Given the description of an element on the screen output the (x, y) to click on. 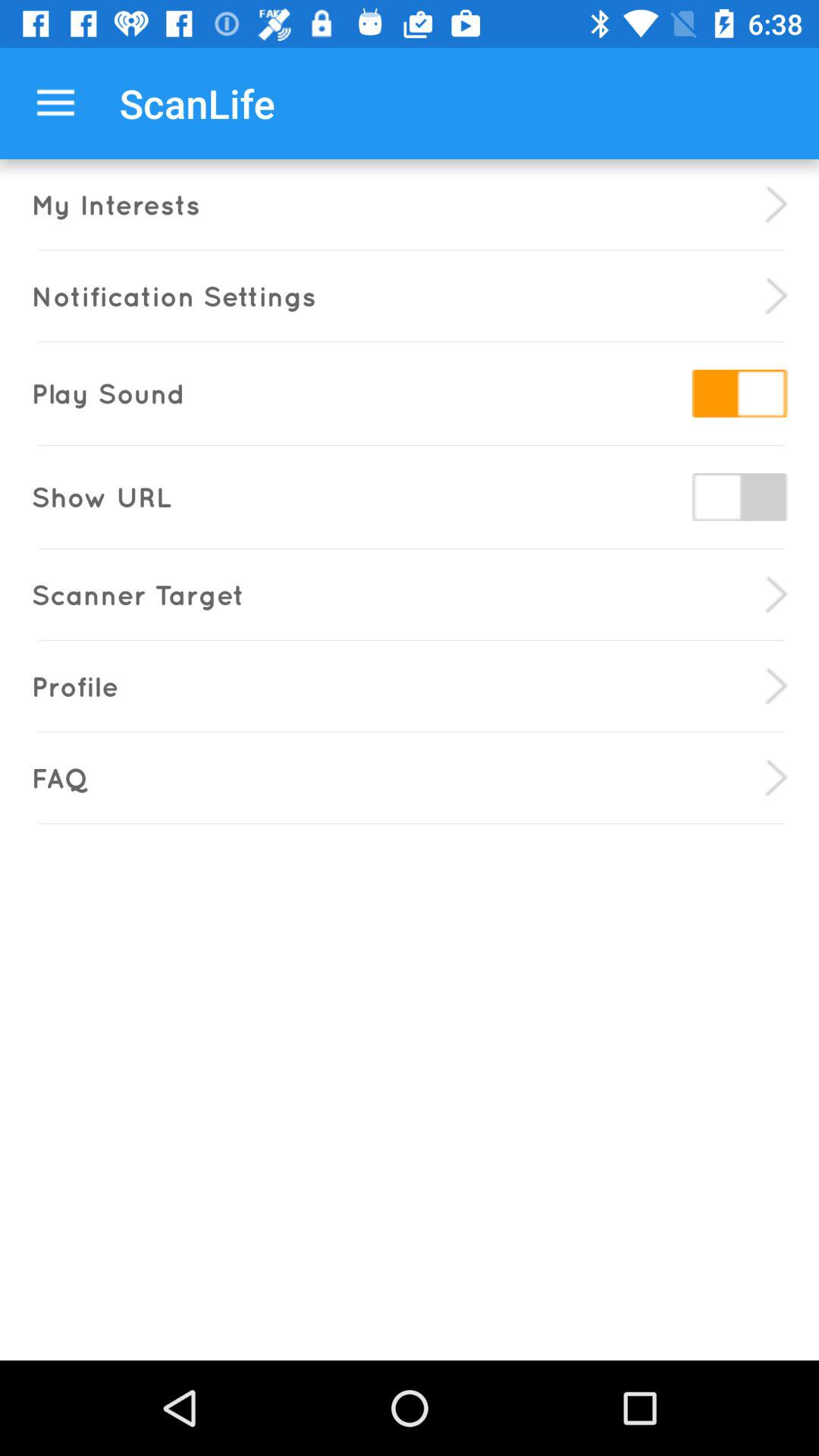
tap the item next to play sound icon (739, 393)
